Given the description of an element on the screen output the (x, y) to click on. 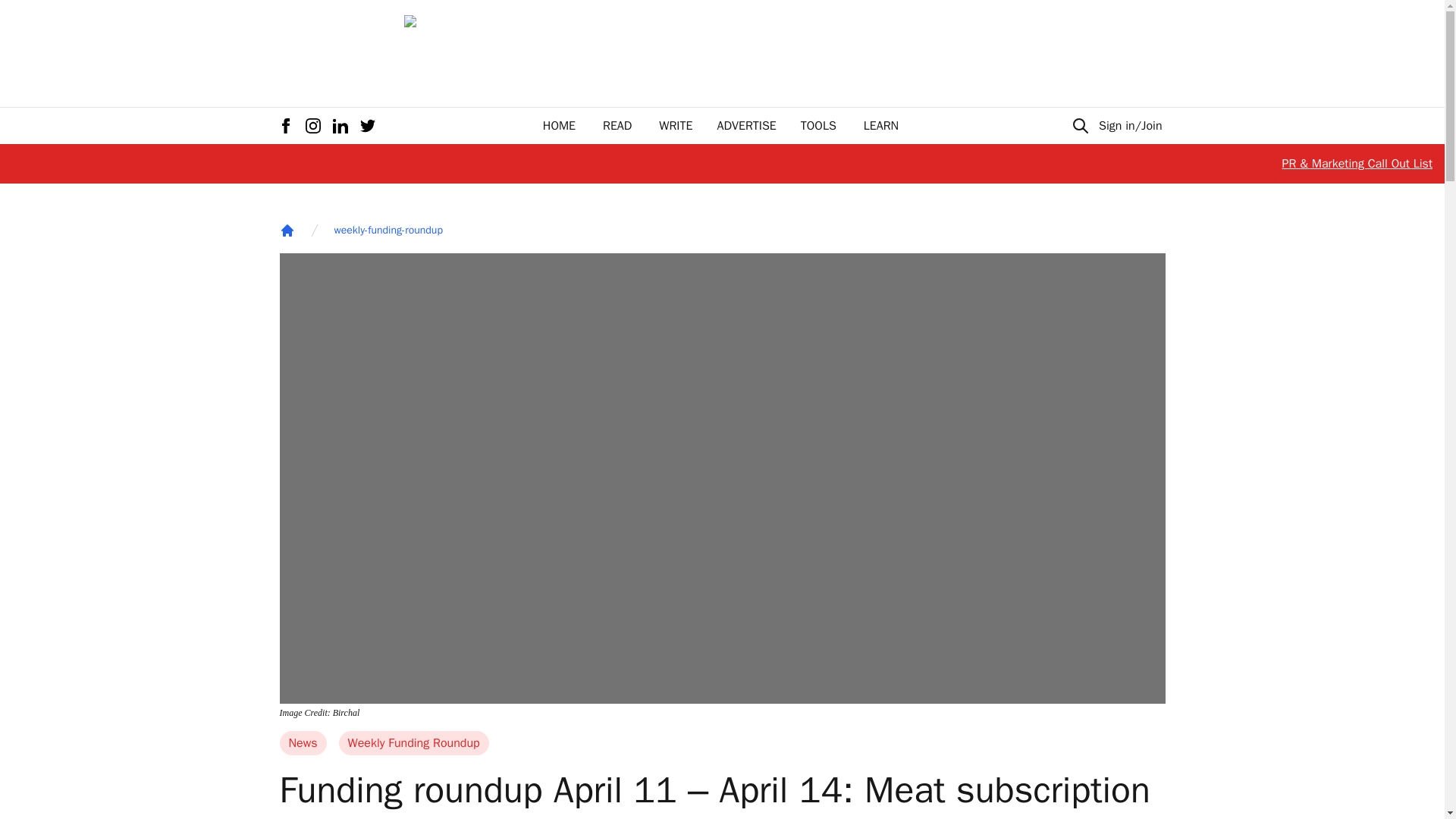
READ (616, 126)
HOME (559, 126)
TOOLS (817, 126)
WRITE (676, 126)
Home (286, 230)
ADVERTISE (746, 126)
News (302, 743)
Weekly Funding Roundup (414, 743)
weekly-funding-roundup (387, 230)
LEARN (880, 126)
